Given the description of an element on the screen output the (x, y) to click on. 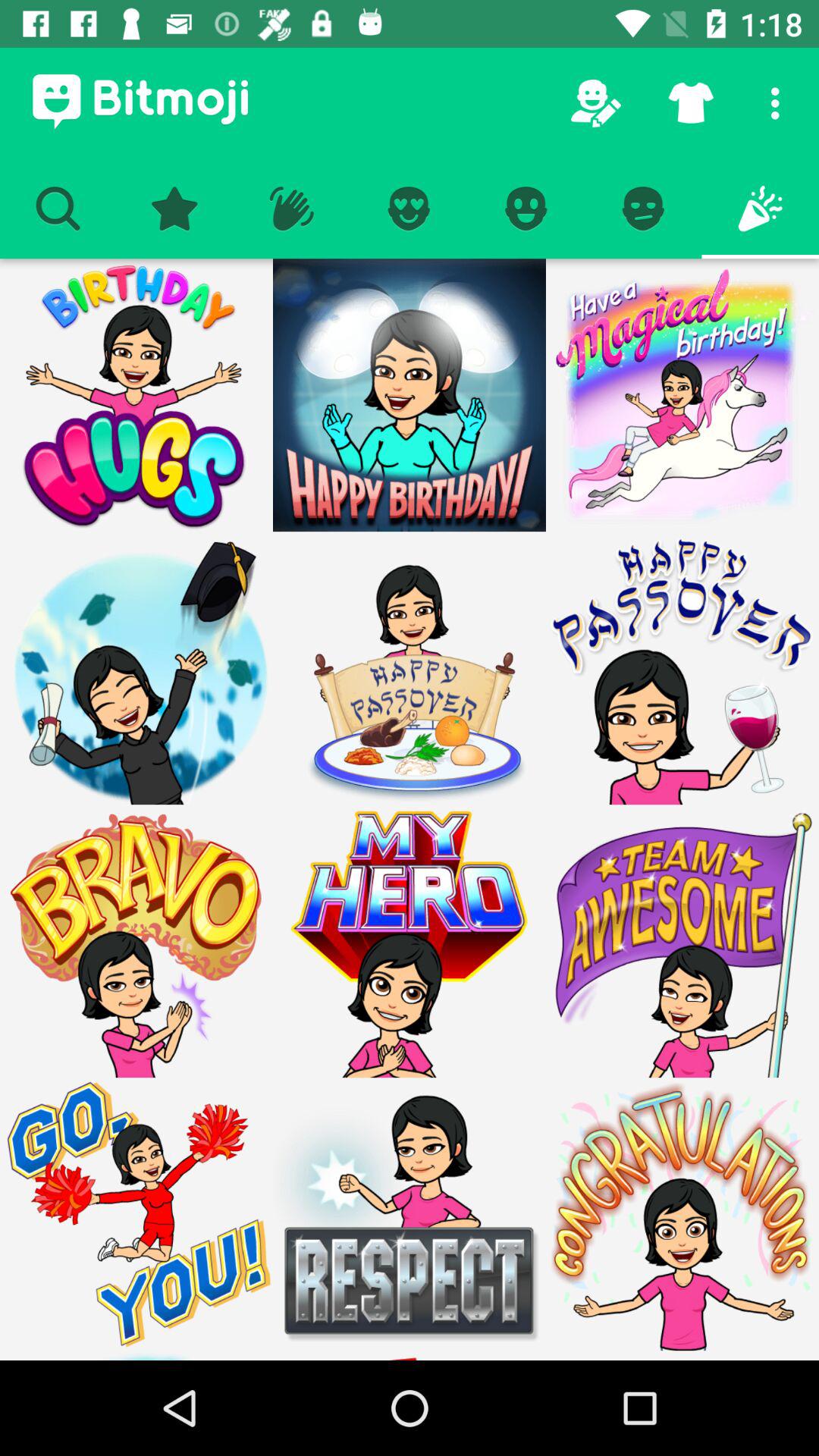
use selected emoji (136, 394)
